Given the description of an element on the screen output the (x, y) to click on. 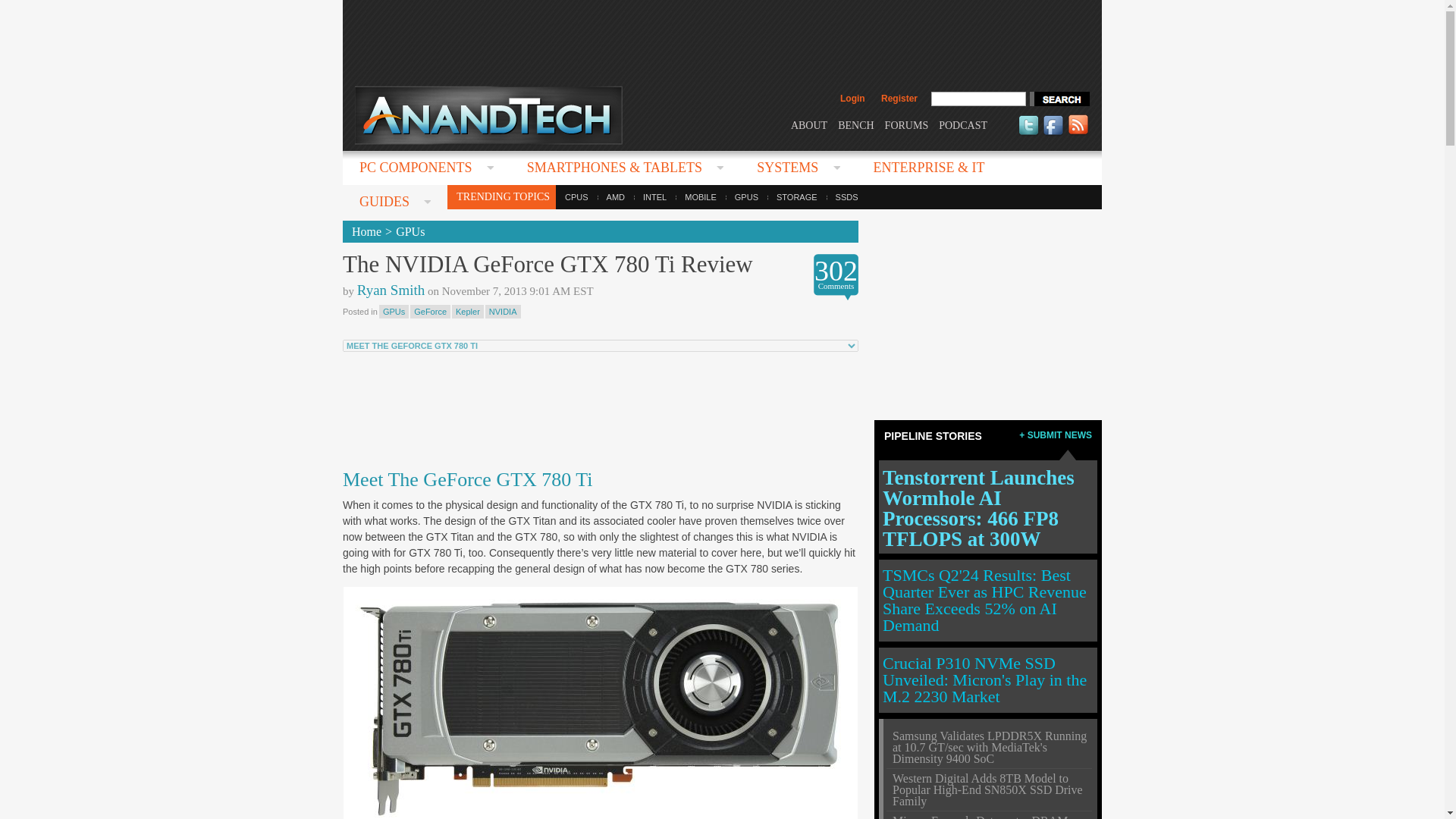
ABOUT (808, 125)
search (1059, 98)
FORUMS (906, 125)
PODCAST (963, 125)
Login (852, 98)
Register (898, 98)
BENCH (855, 125)
search (1059, 98)
search (1059, 98)
